Given the description of an element on the screen output the (x, y) to click on. 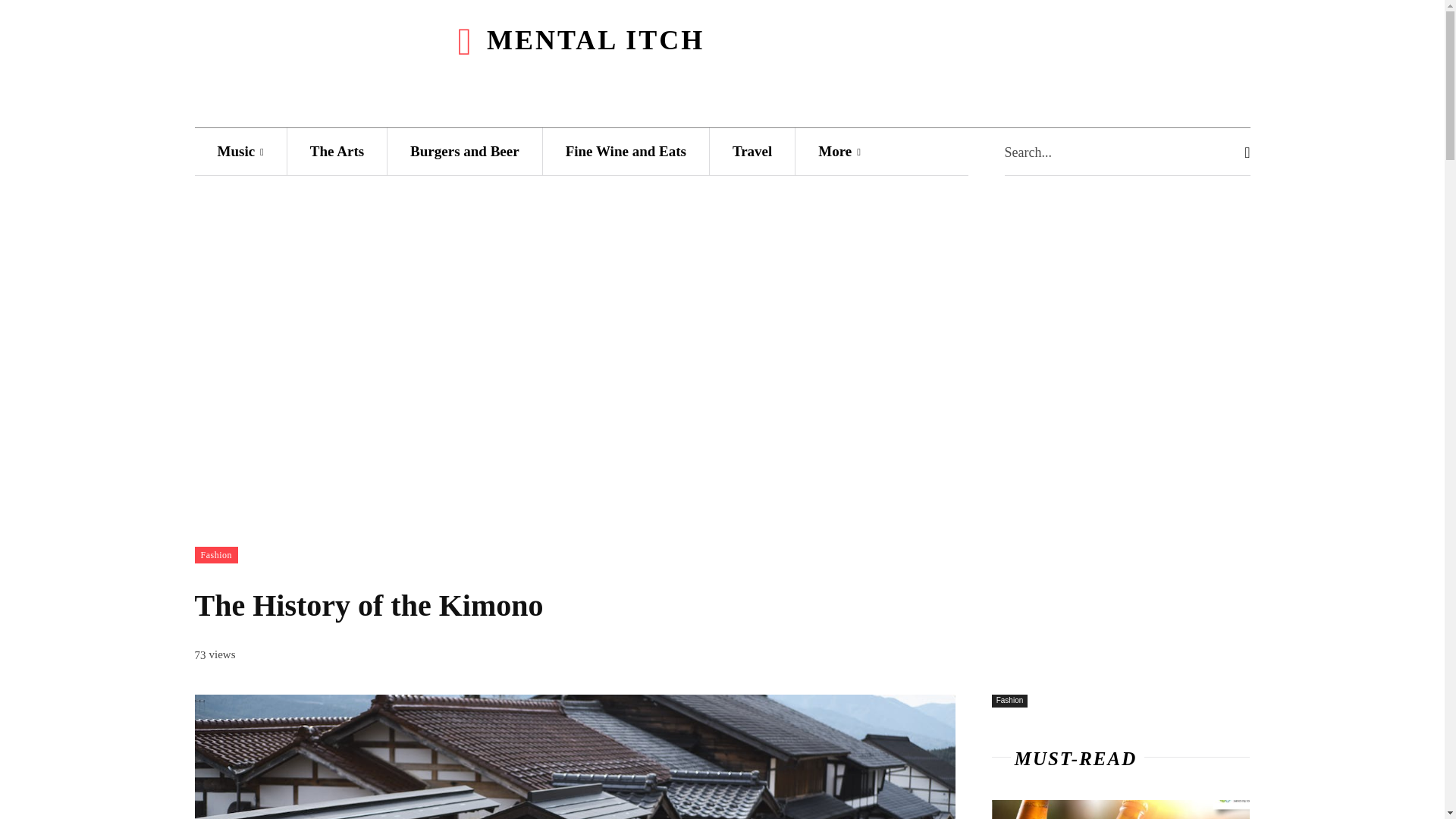
Kimono (574, 756)
